Given the description of an element on the screen output the (x, y) to click on. 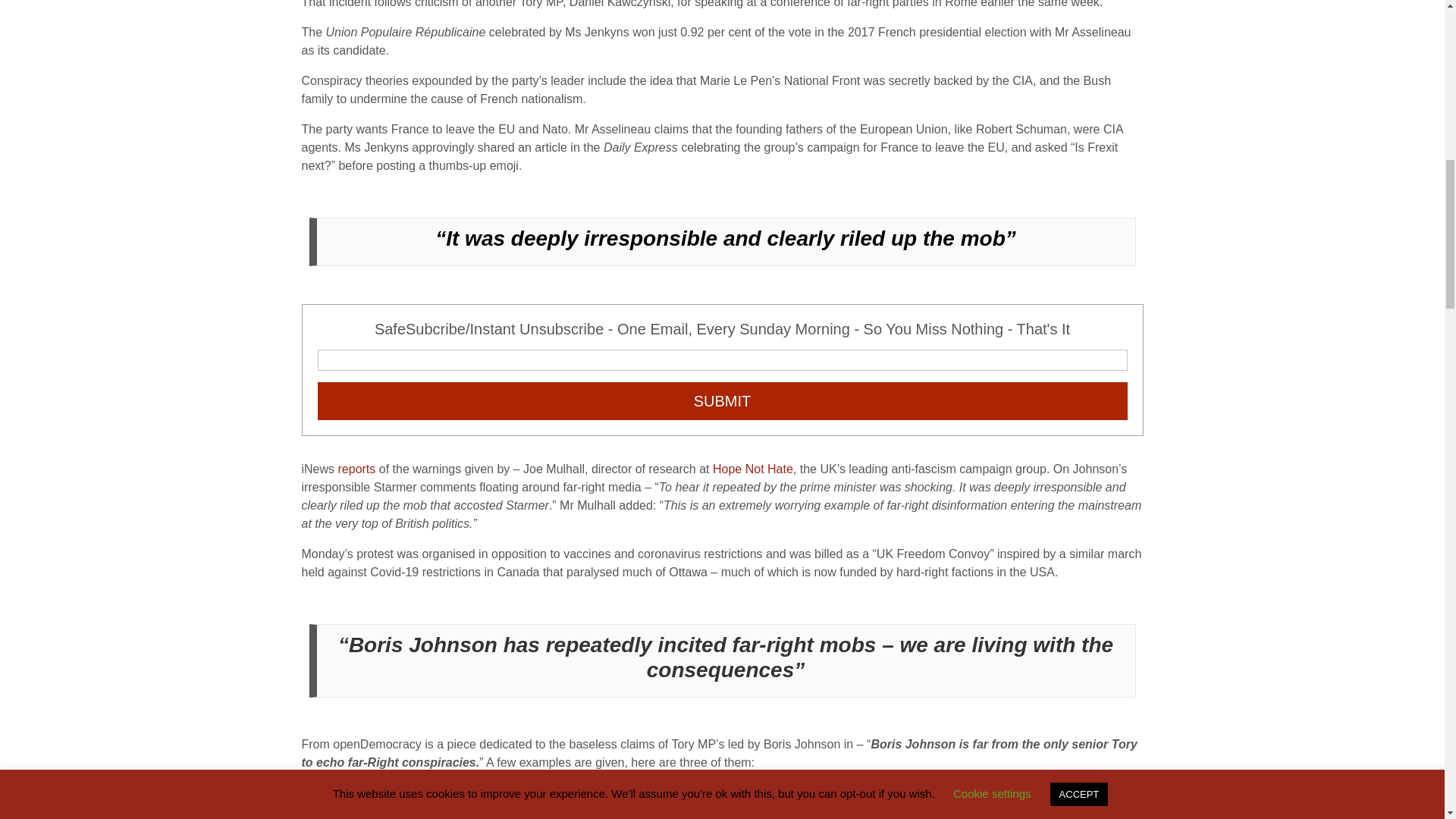
SUBMIT (721, 401)
reports (356, 468)
Hope Not Hate (753, 468)
